Given the description of an element on the screen output the (x, y) to click on. 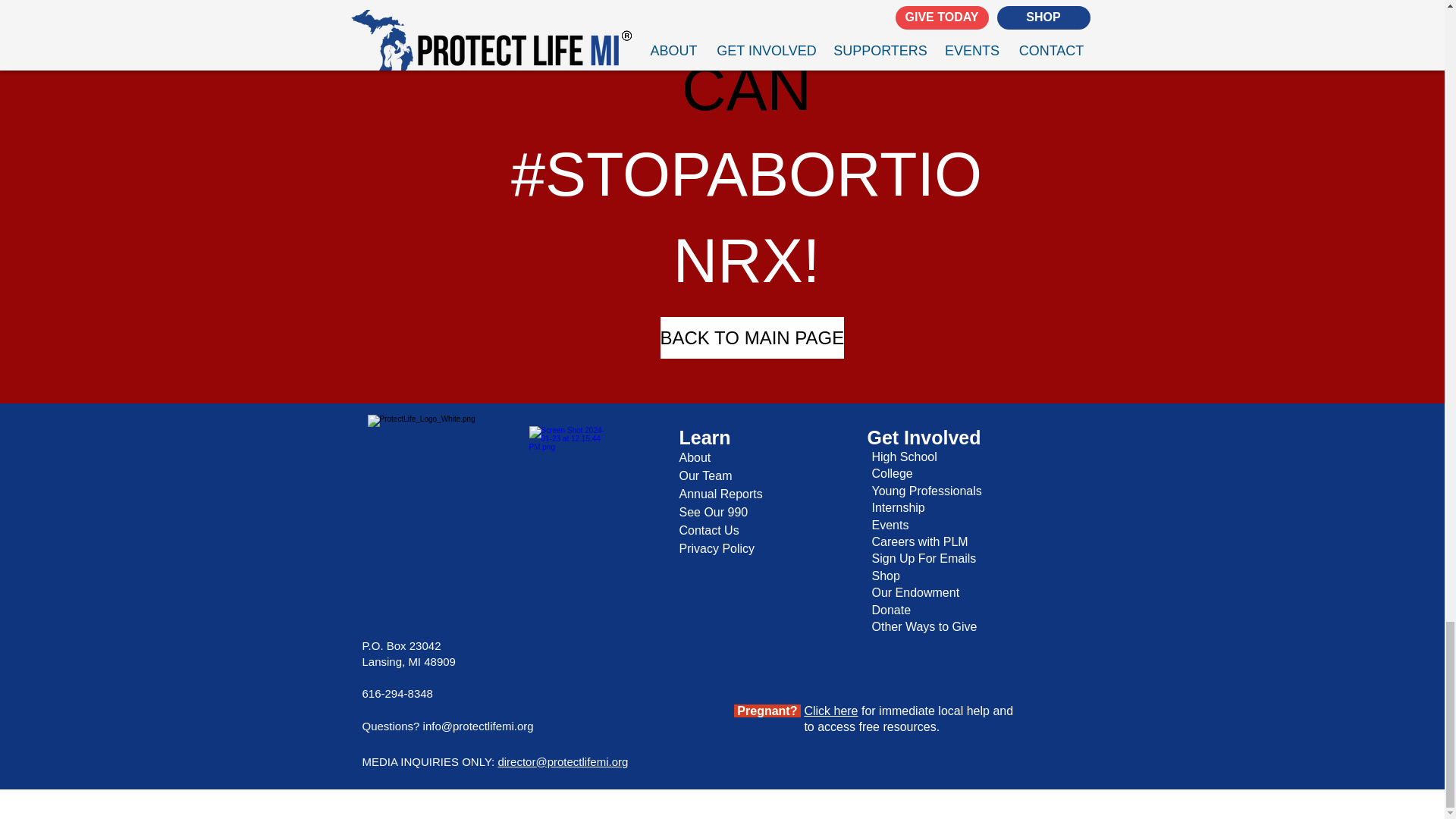
High School (904, 456)
BACK TO MAIN PAGE (751, 337)
Annual Reports (720, 493)
Our Team (705, 475)
See Our 990 (713, 512)
About (695, 457)
Contact Us (709, 530)
Privacy Policy (717, 548)
